Given the description of an element on the screen output the (x, y) to click on. 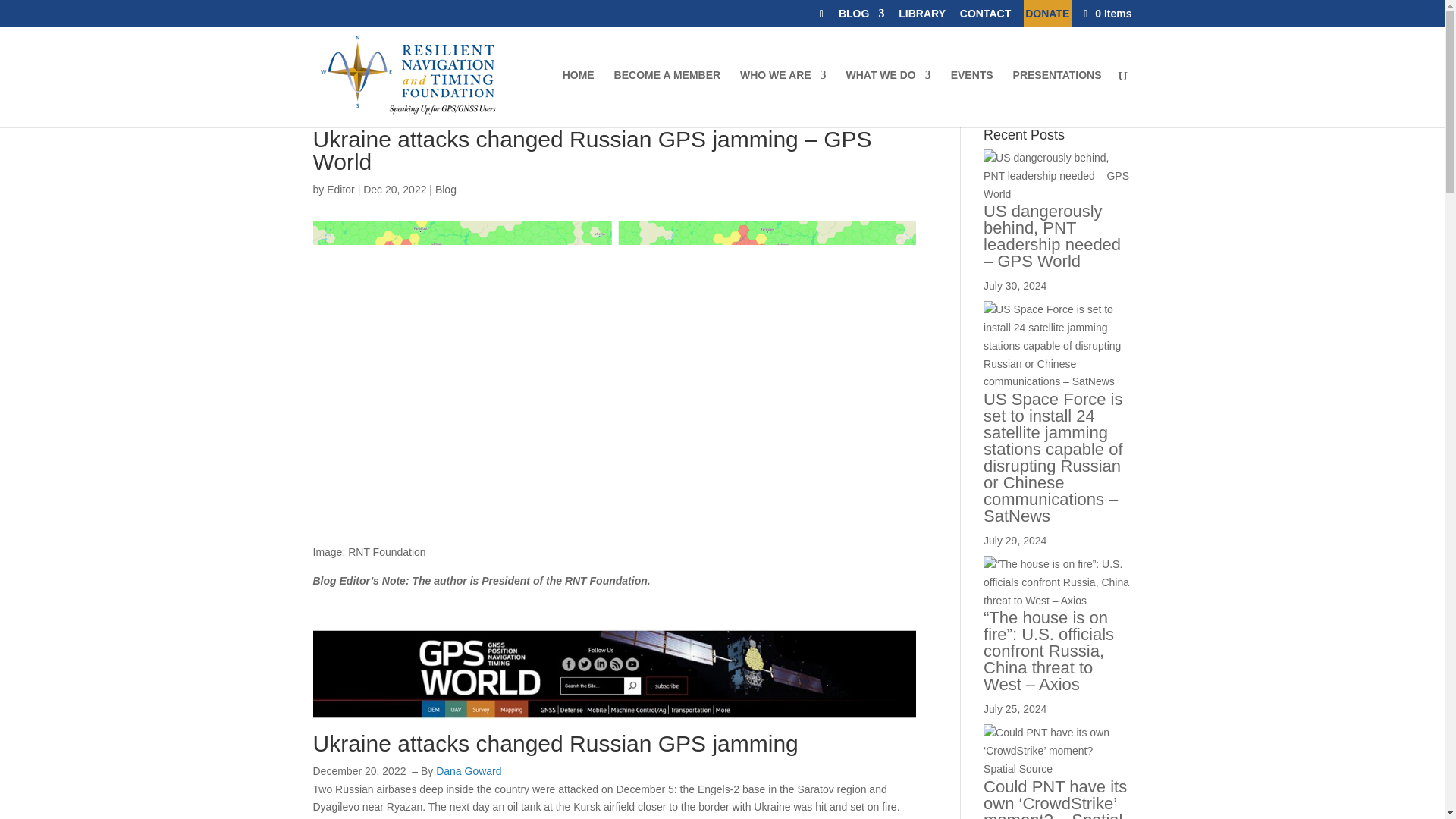
Blog (446, 189)
BECOME A MEMBER (667, 98)
BLOG (860, 16)
Posts by Dana Goward (467, 770)
WHAT WE DO (887, 98)
LIBRARY (921, 16)
CONTACT (984, 16)
0 Items (1105, 13)
DONATE (1046, 16)
PRESENTATIONS (1057, 98)
Editor (340, 189)
WHO WE ARE (783, 98)
Posts by Editor (340, 189)
Ukraine attacks changed Russian GPS jamming (555, 743)
